Given the description of an element on the screen output the (x, y) to click on. 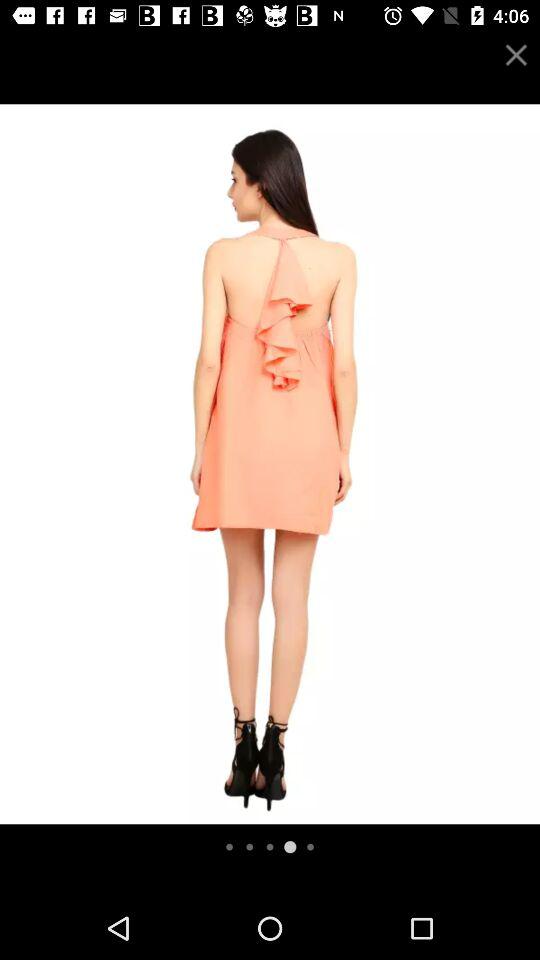
go to close (516, 54)
